Given the description of an element on the screen output the (x, y) to click on. 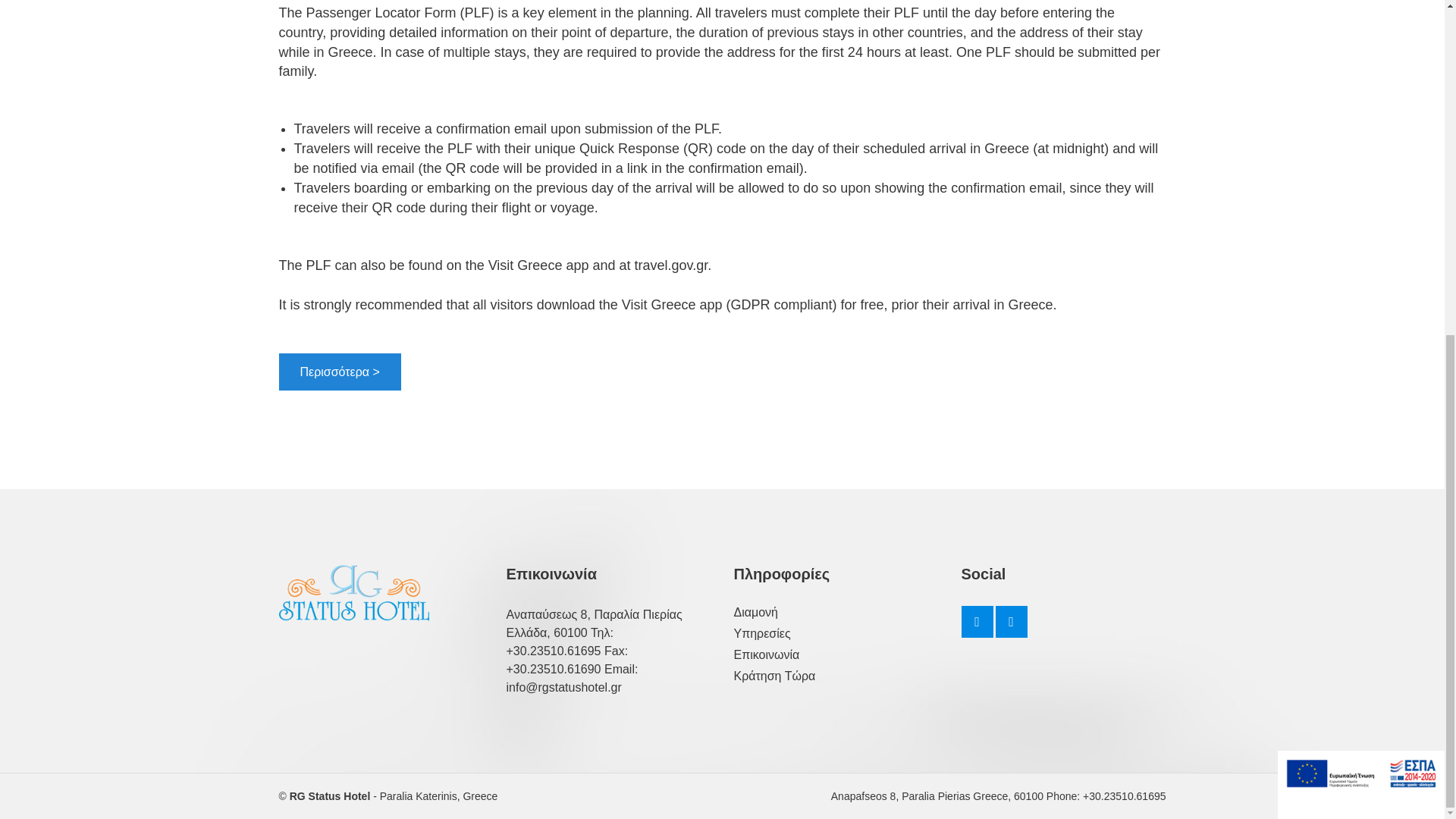
Facebook (976, 622)
TripAdvisor (1010, 622)
RG Status Hotel (330, 796)
